Given the description of an element on the screen output the (x, y) to click on. 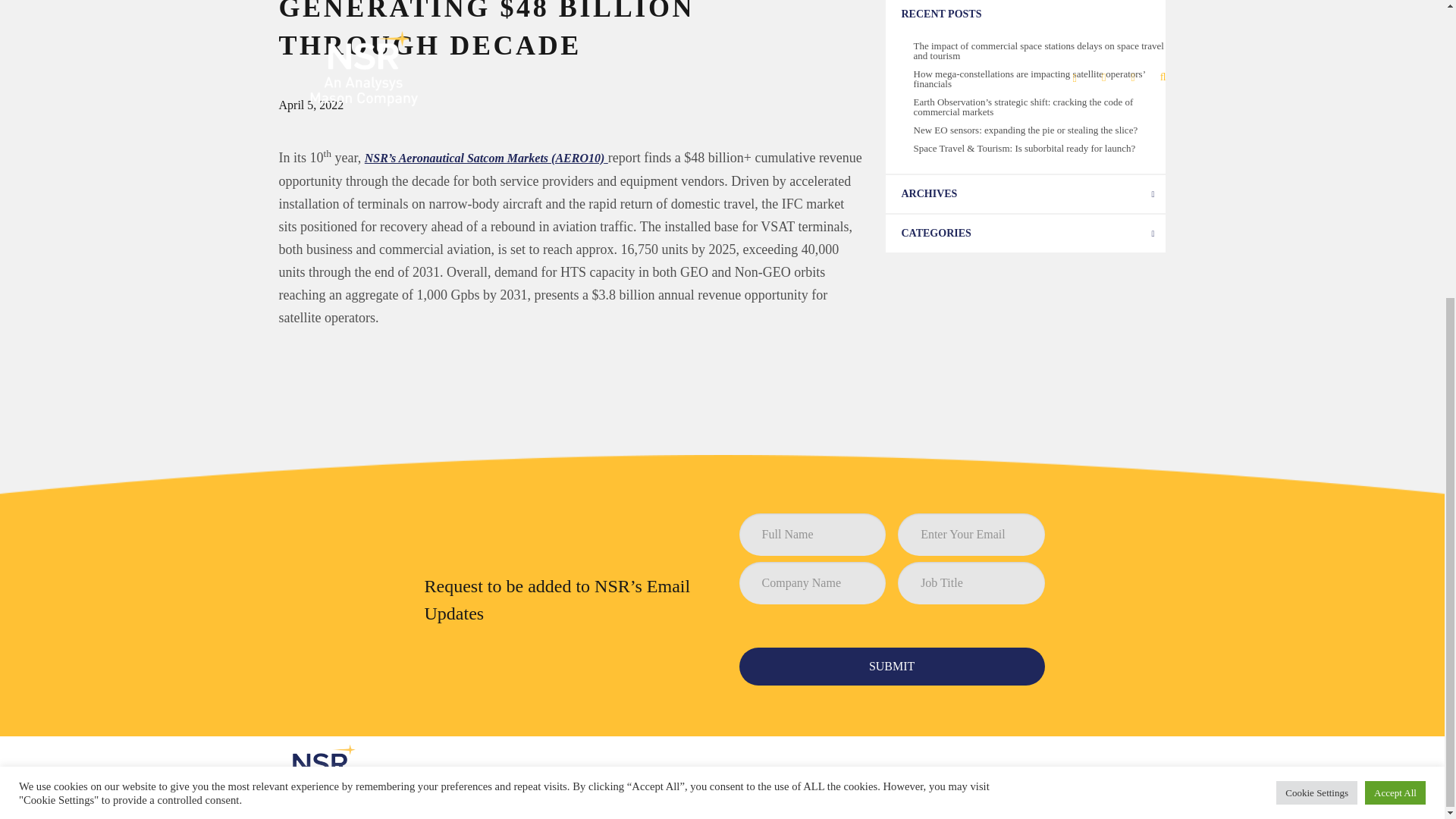
New EO sensors: expanding the pie or stealing the slice? (1024, 129)
Submit (892, 666)
